Given the description of an element on the screen output the (x, y) to click on. 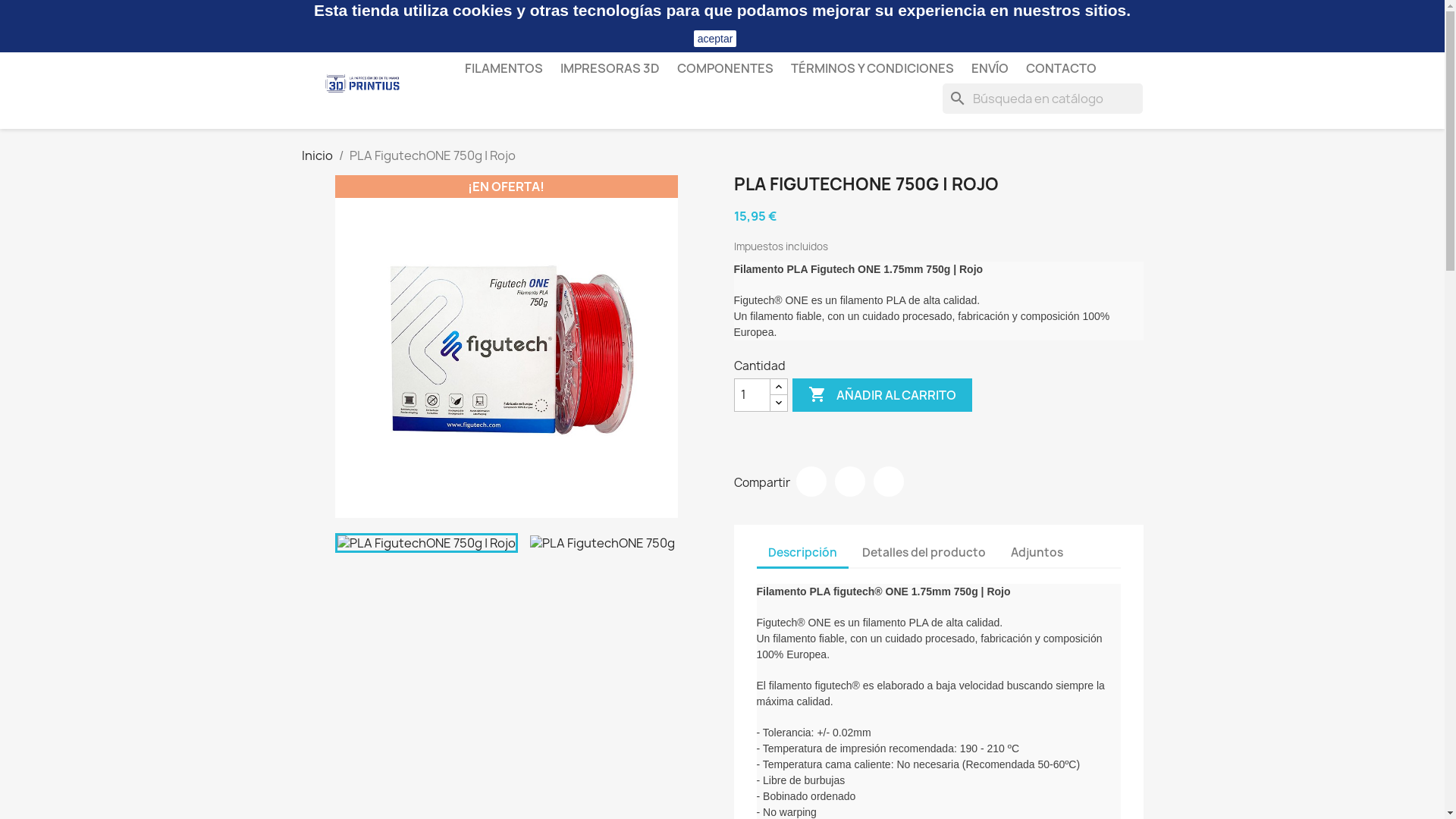
COMPONENTES Element type: text (724, 68)
Detalles del producto Element type: text (923, 552)
Adjuntos Element type: text (1036, 552)
FILAMENTOS Element type: text (502, 68)
Inicio Element type: text (316, 155)
CONTACTO Element type: text (1060, 68)
Pinterest Element type: text (888, 481)
aceptar Element type: text (715, 38)
Tuitear Element type: text (849, 481)
IMPRESORAS 3D Element type: text (609, 68)
Compartir Element type: text (811, 481)
